Given the description of an element on the screen output the (x, y) to click on. 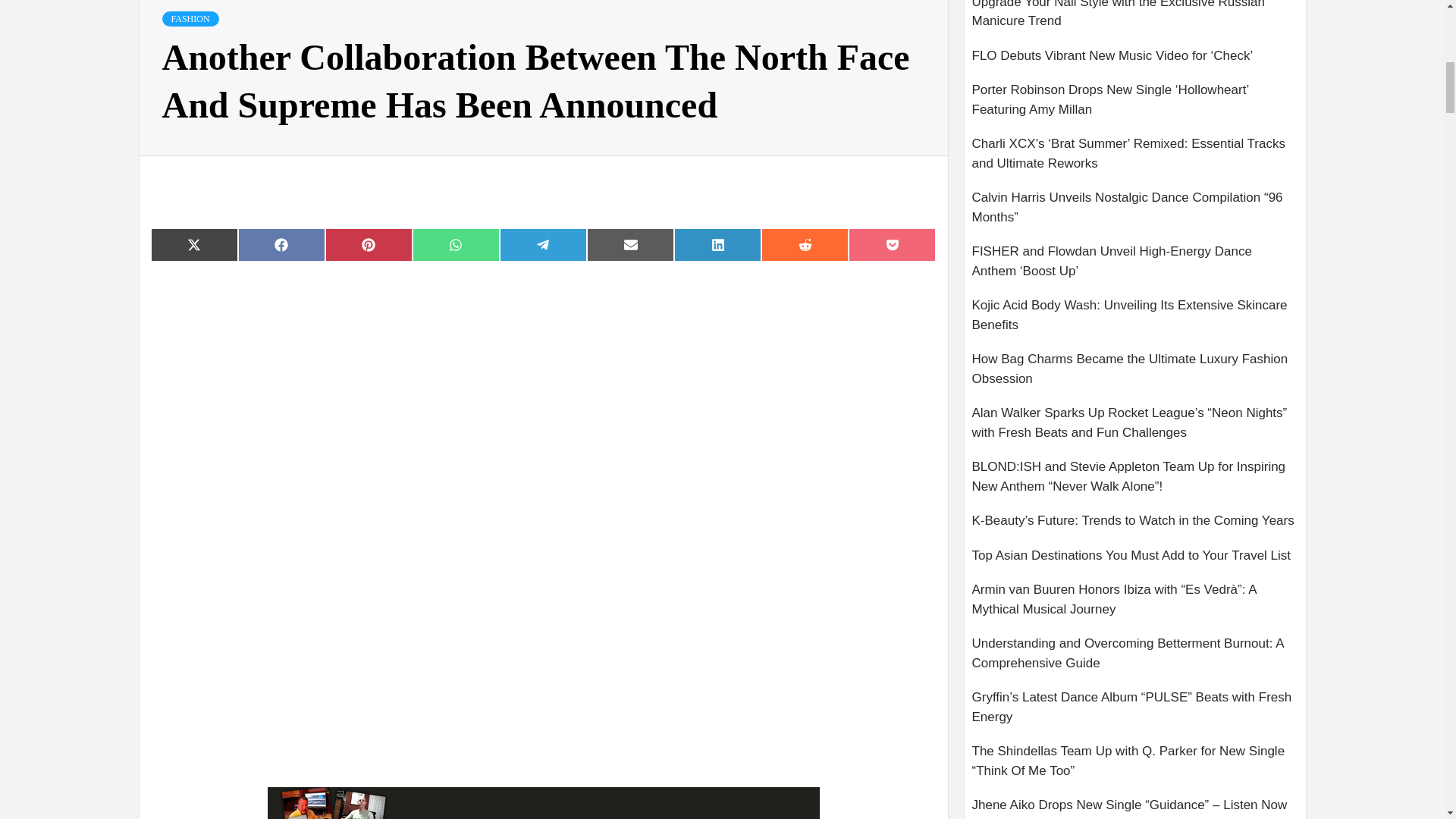
Share on Email (630, 244)
Share on Pinterest (368, 244)
Share on Telegram (542, 244)
FASHION (190, 18)
Share on Facebook (281, 244)
Share on Pocket (892, 244)
Share on WhatsApp (455, 244)
Share on Reddit (804, 244)
Share on LinkedIn (717, 244)
